Given the description of an element on the screen output the (x, y) to click on. 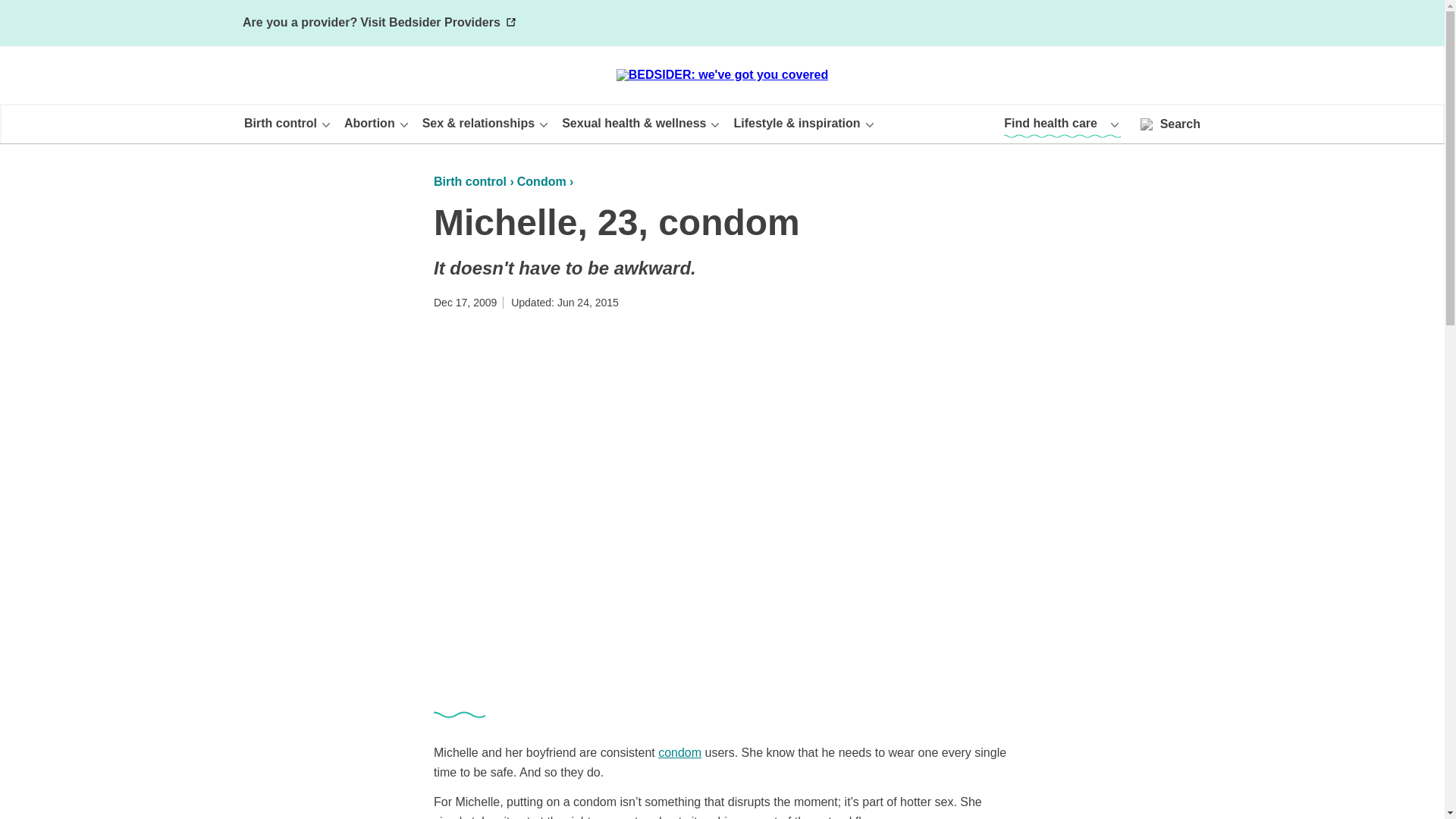
Abortion (376, 122)
Birth control (287, 122)
